Given the description of an element on the screen output the (x, y) to click on. 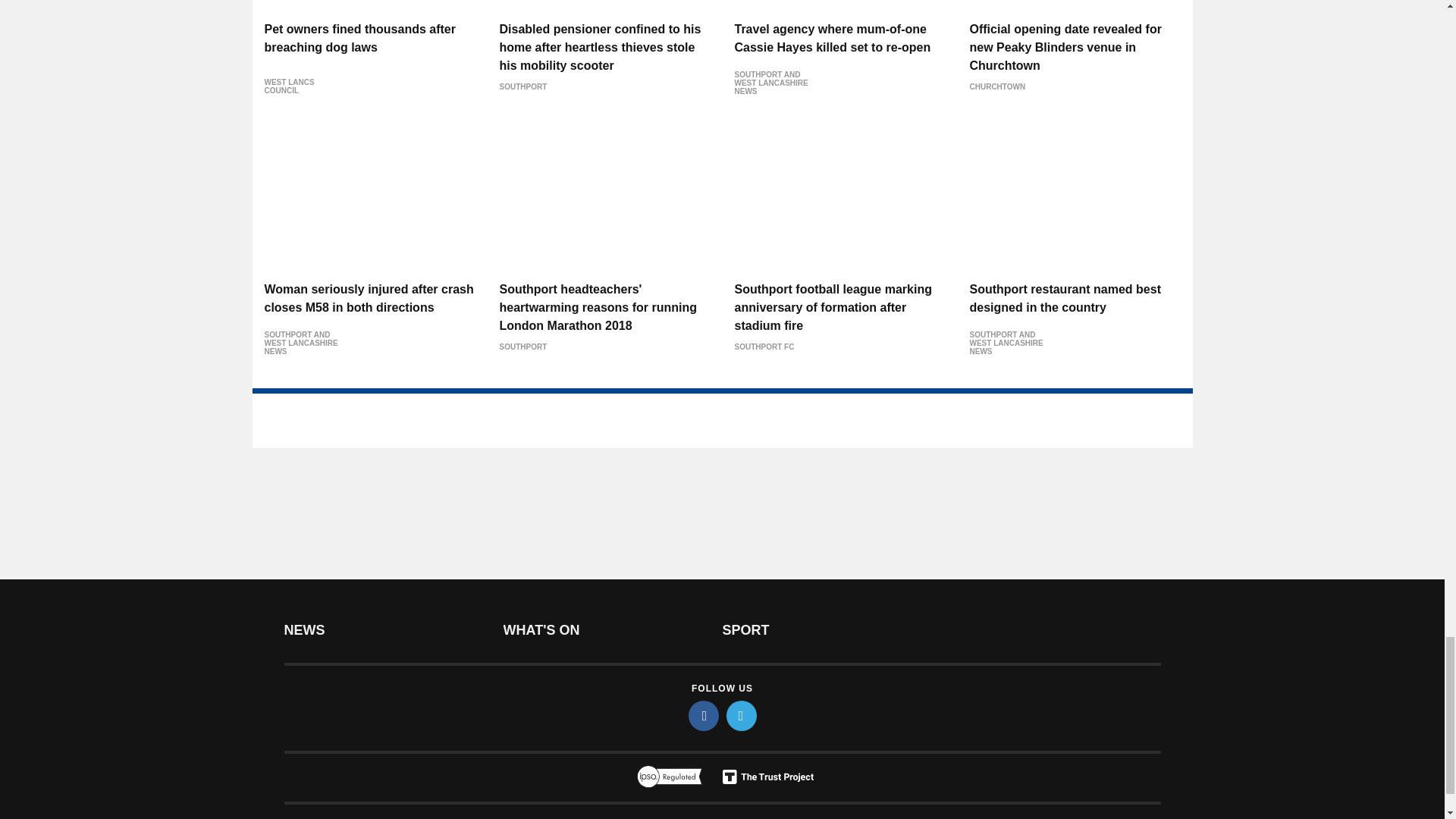
facebook (703, 716)
twitter (741, 716)
